Given the description of an element on the screen output the (x, y) to click on. 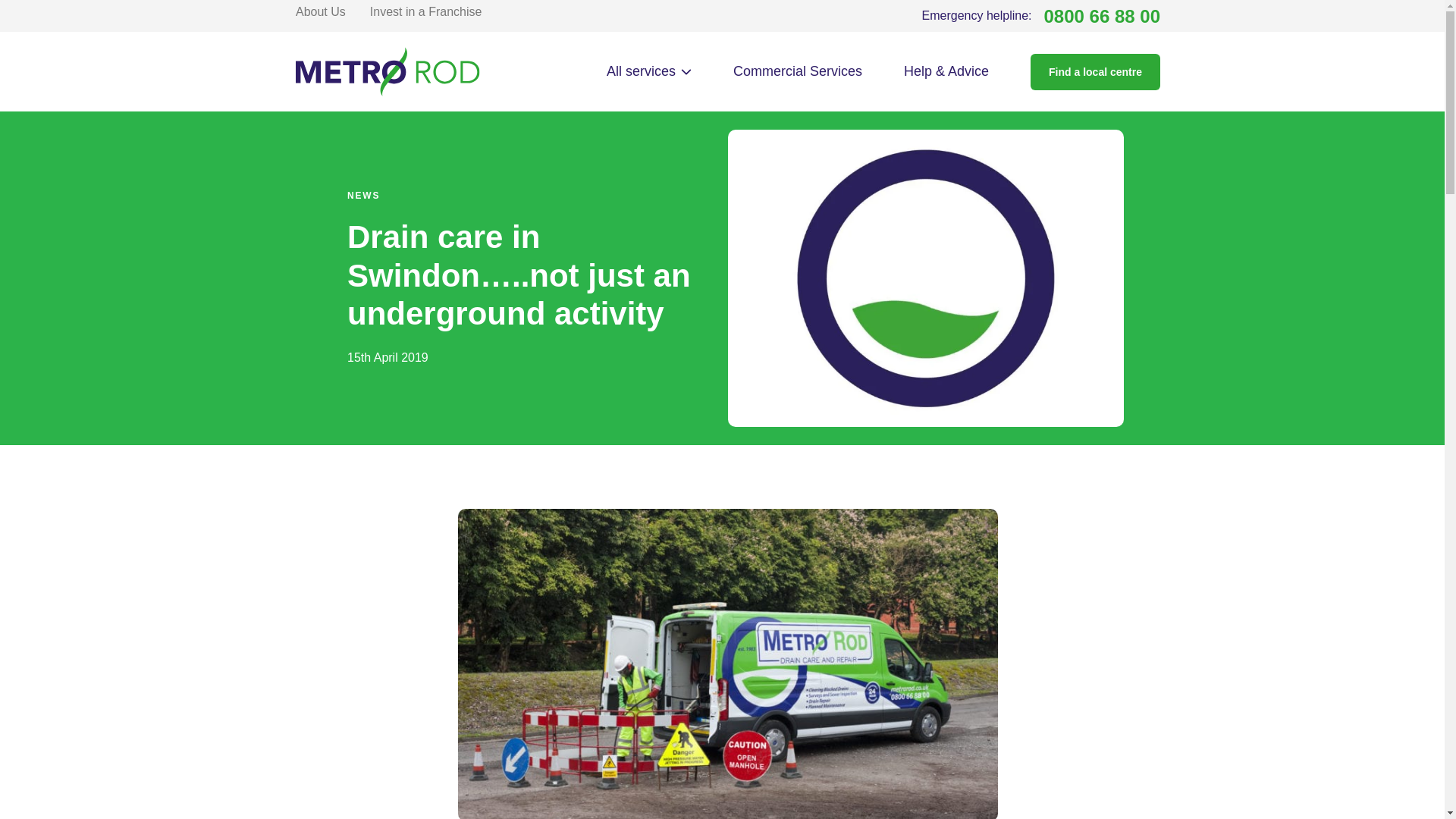
Pump Services (380, 216)
All services (649, 71)
Drainage Services (380, 167)
About Us (320, 11)
Tanker Services (380, 256)
Invest in a Franchise (1040, 15)
